Given the description of an element on the screen output the (x, y) to click on. 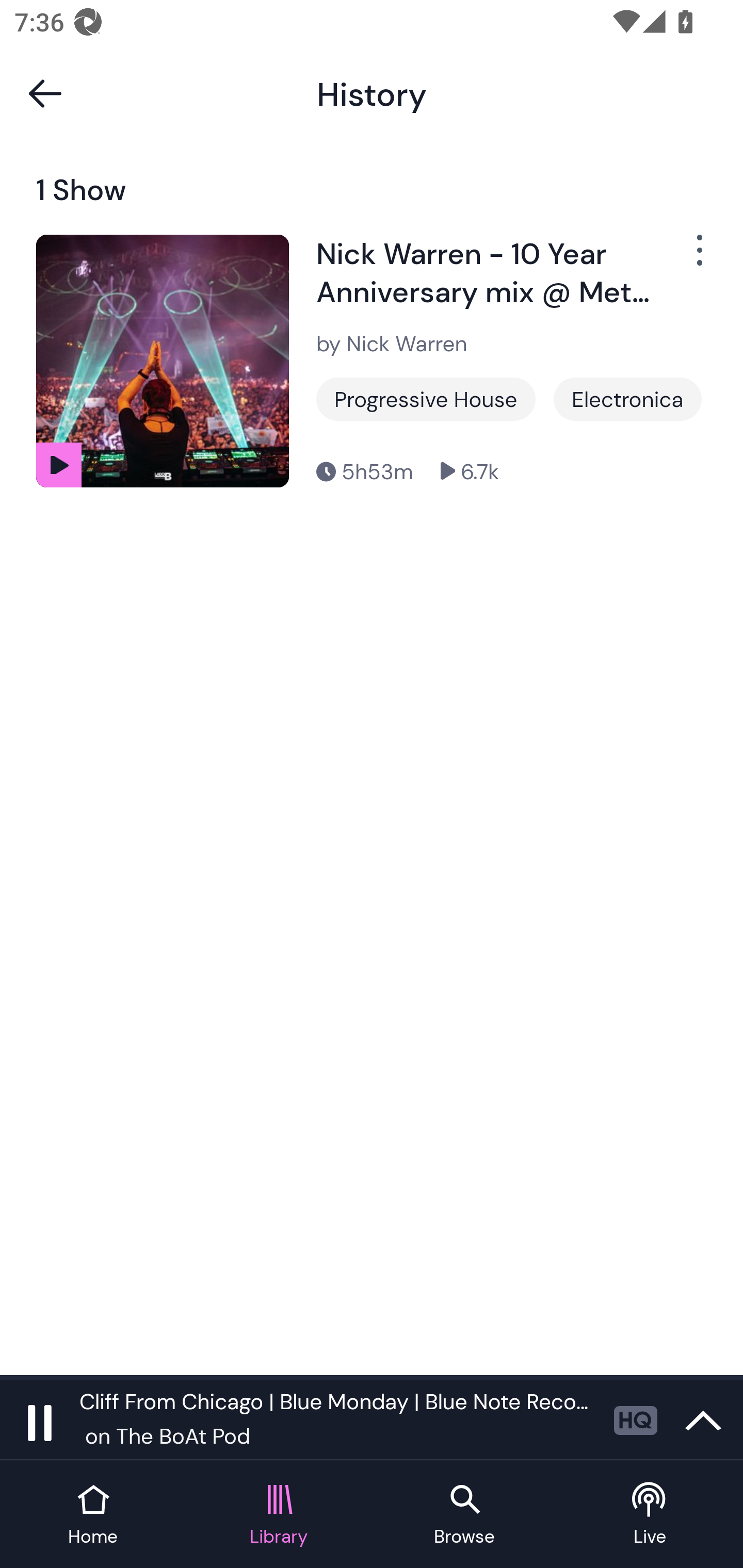
Show Options Menu Button (697, 258)
Progressive House (425, 398)
Electronica (627, 398)
Home tab Home (92, 1515)
Library tab Library (278, 1515)
Browse tab Browse (464, 1515)
Live tab Live (650, 1515)
